Given the description of an element on the screen output the (x, y) to click on. 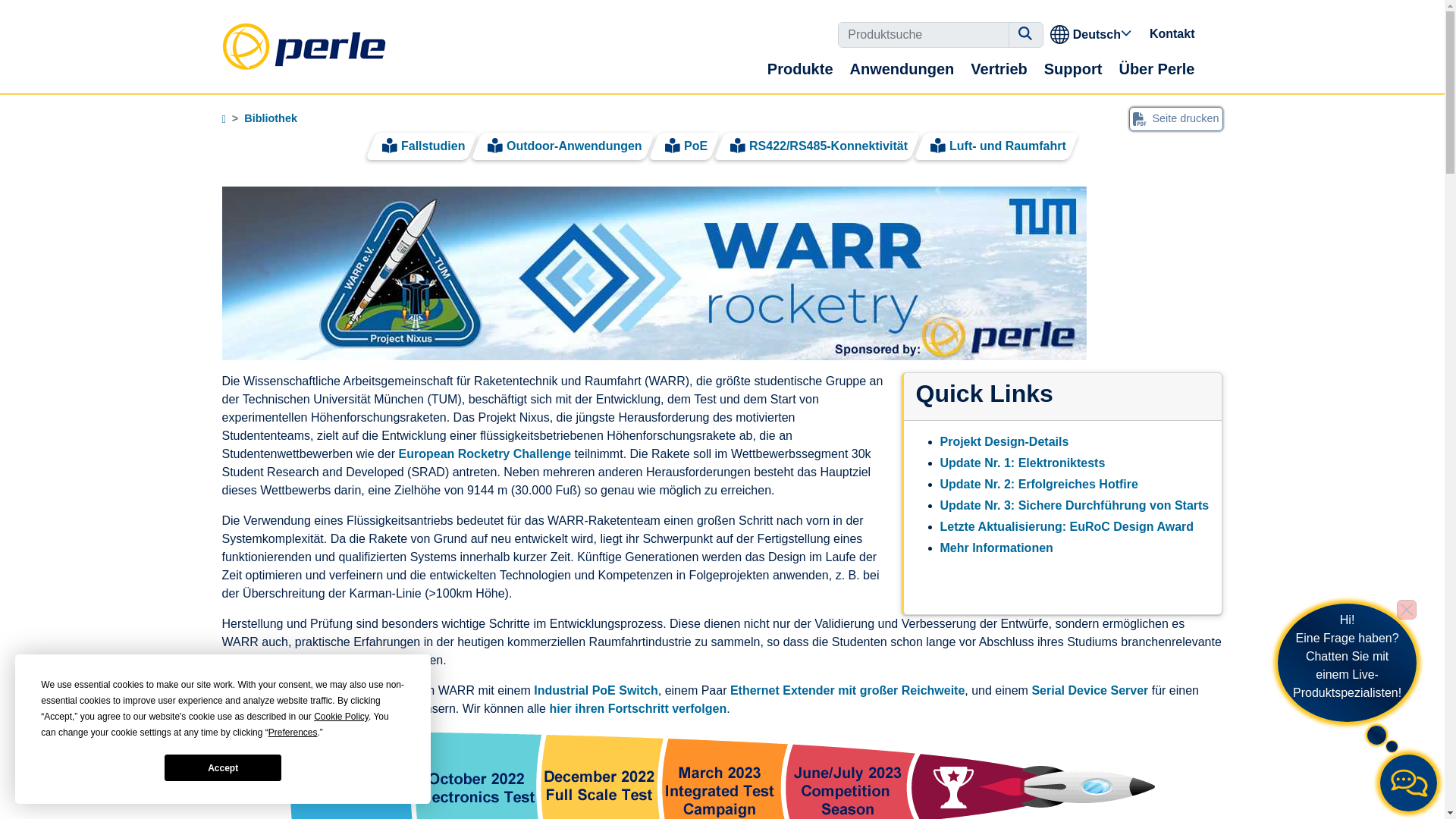
Deutsch (1091, 34)
Update Nr. 1: Elektroniktests (1022, 462)
Projekt Design-Details (1004, 440)
Vertrieb (998, 68)
Support (1072, 68)
Accept (222, 767)
Letzte Aktualisierung: EuRoC Design Award (1066, 526)
Luft- und Raumfahrt (1007, 146)
Industrial PoE Switch (596, 689)
Outdoor-Anwendungen (574, 146)
Anwendungen (901, 68)
Seite drucken (1175, 119)
Application Solutions (270, 118)
Serial Device Server (1089, 689)
PoE (695, 146)
